Given the description of an element on the screen output the (x, y) to click on. 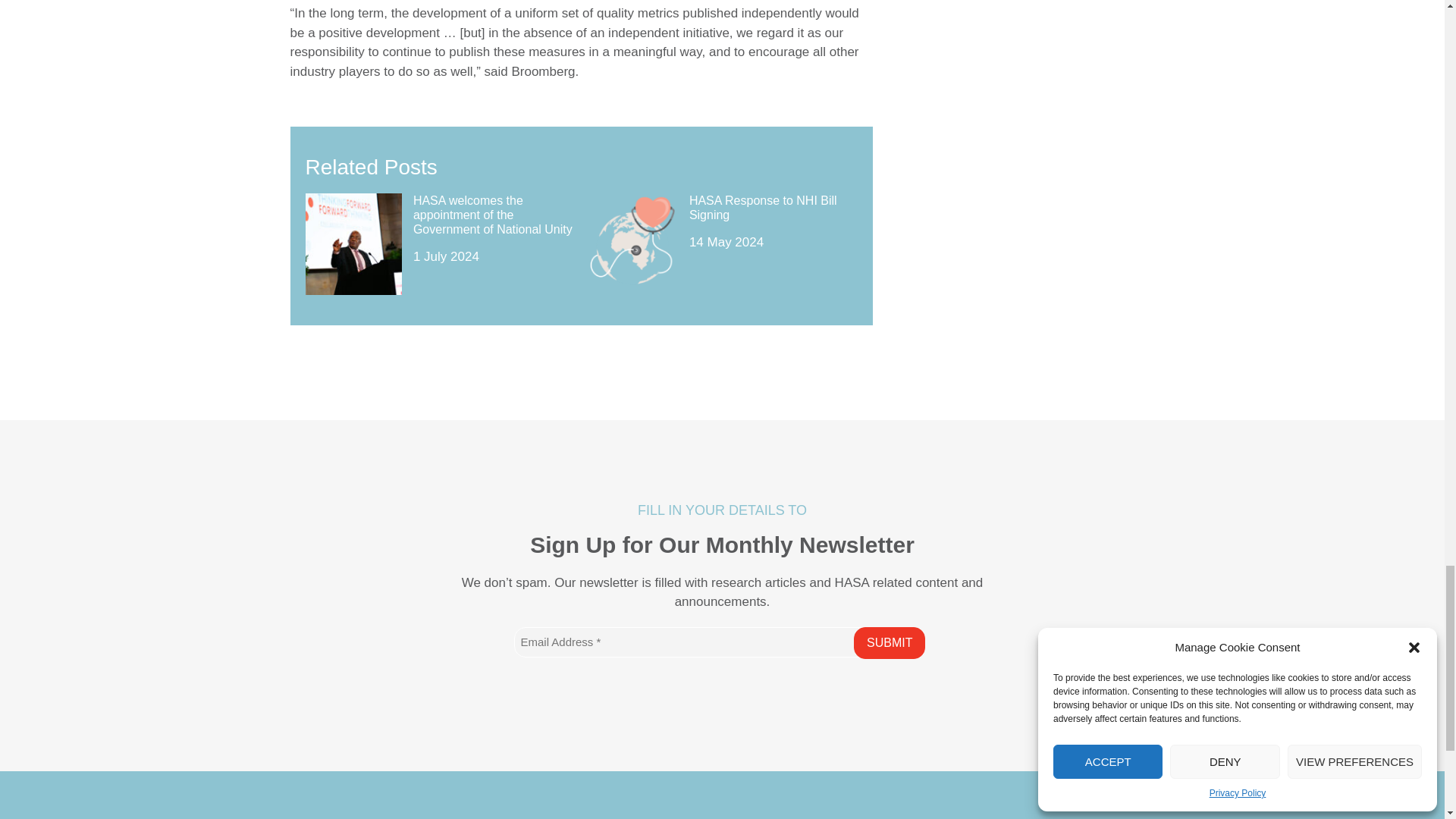
Submit (888, 643)
